Given the description of an element on the screen output the (x, y) to click on. 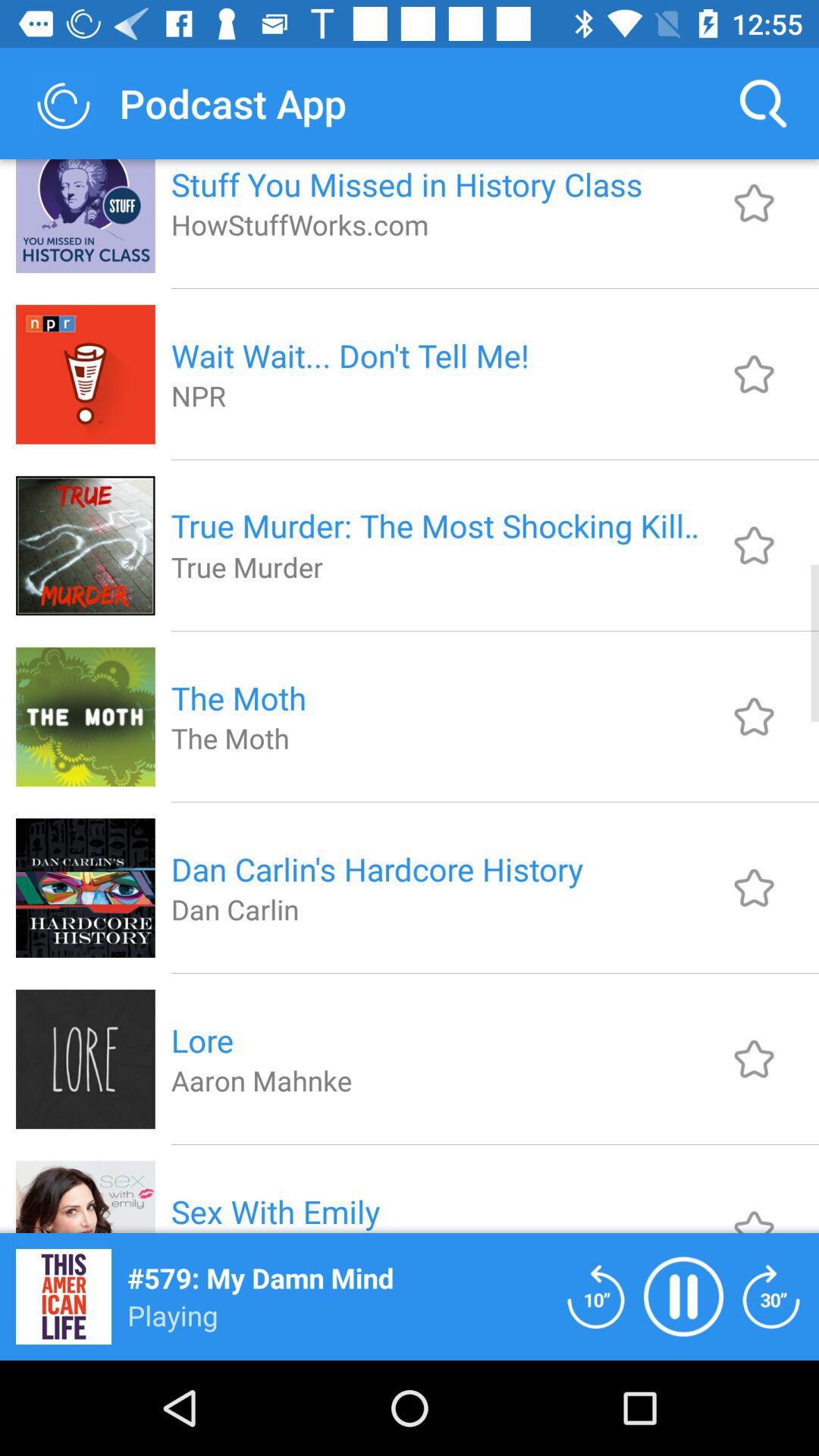
favorite the podcast (754, 1209)
